Given the description of an element on the screen output the (x, y) to click on. 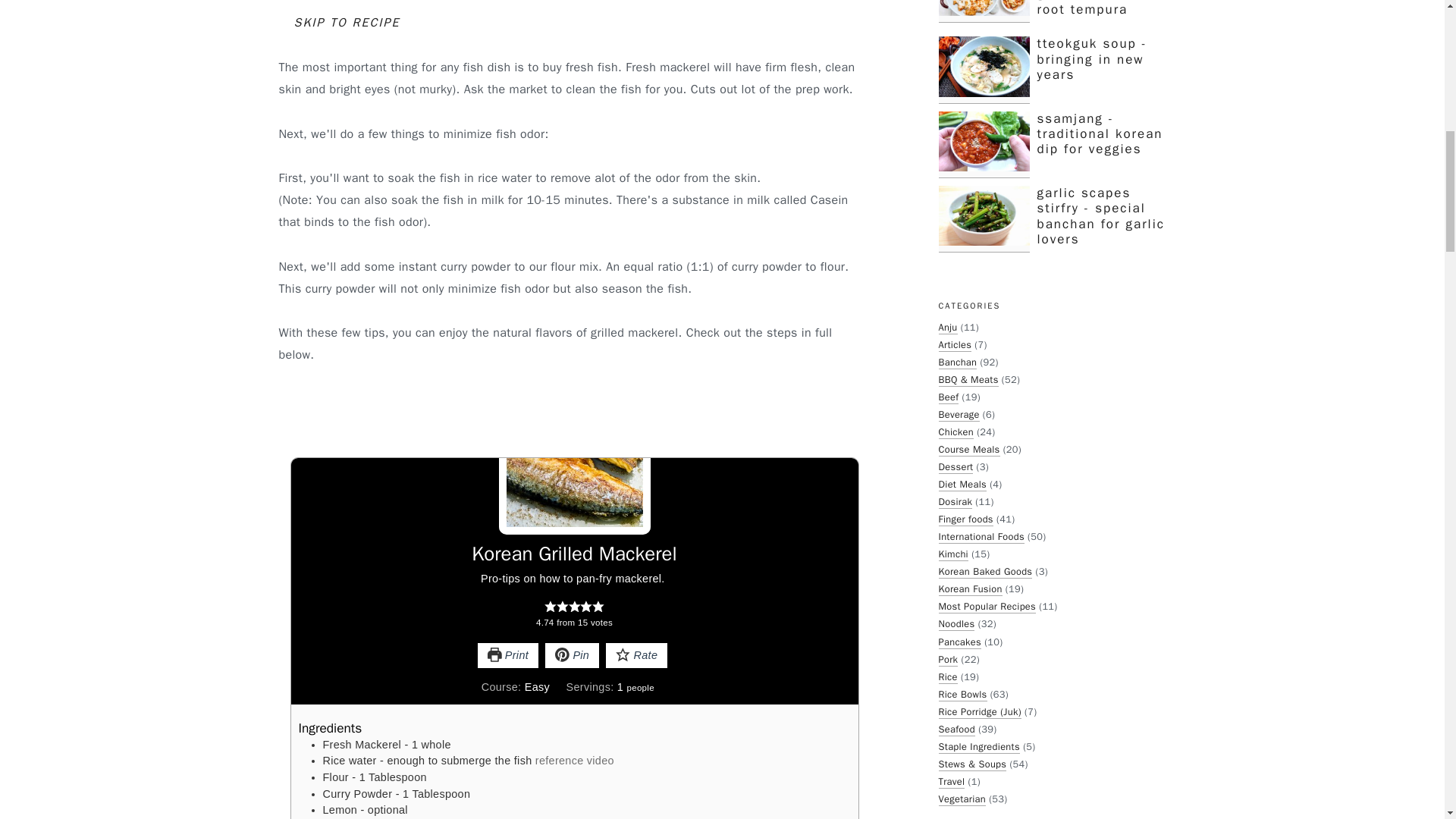
Tteokguk Soup - Bringing in New Years (984, 69)
Ssamjang - Traditional Korean Dip for Veggies (984, 144)
SKIP TO RECIPE (346, 22)
Garlic Scapes Stirfry - Special Banchan For Garlic Lovers (984, 218)
